Given the description of an element on the screen output the (x, y) to click on. 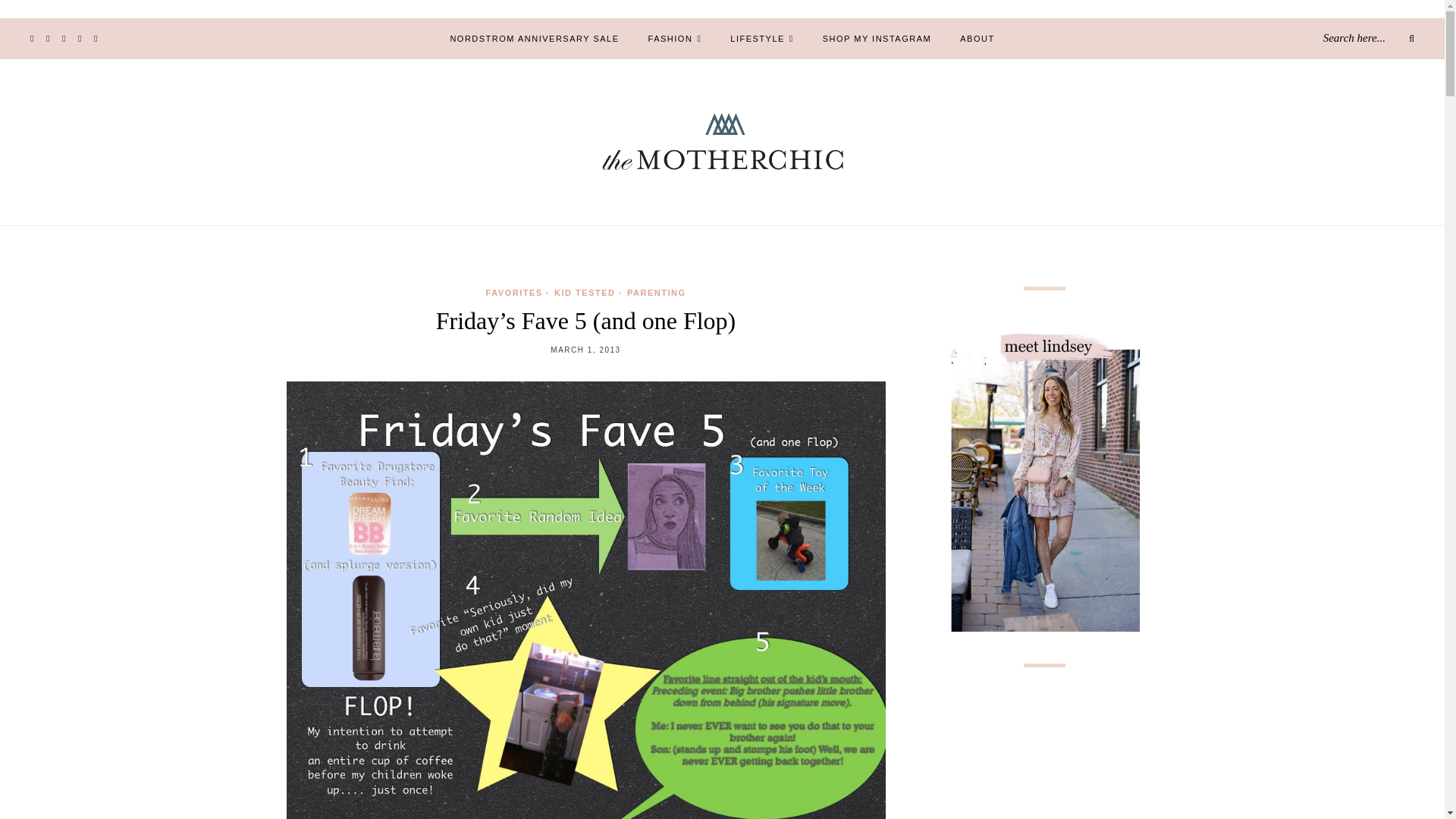
NORDSTROM ANNIVERSARY SALE (533, 38)
FASHION (674, 38)
